Given the description of an element on the screen output the (x, y) to click on. 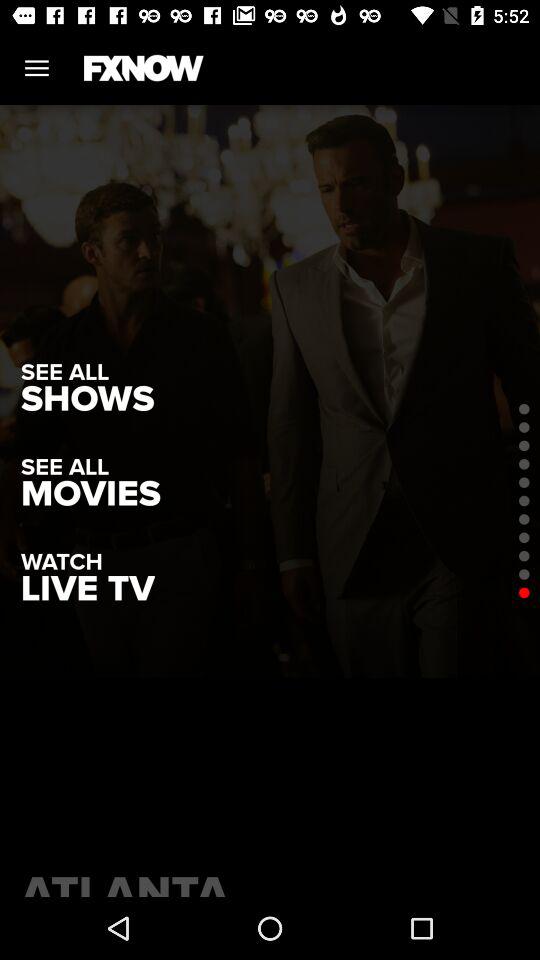
select shows (87, 398)
